Given the description of an element on the screen output the (x, y) to click on. 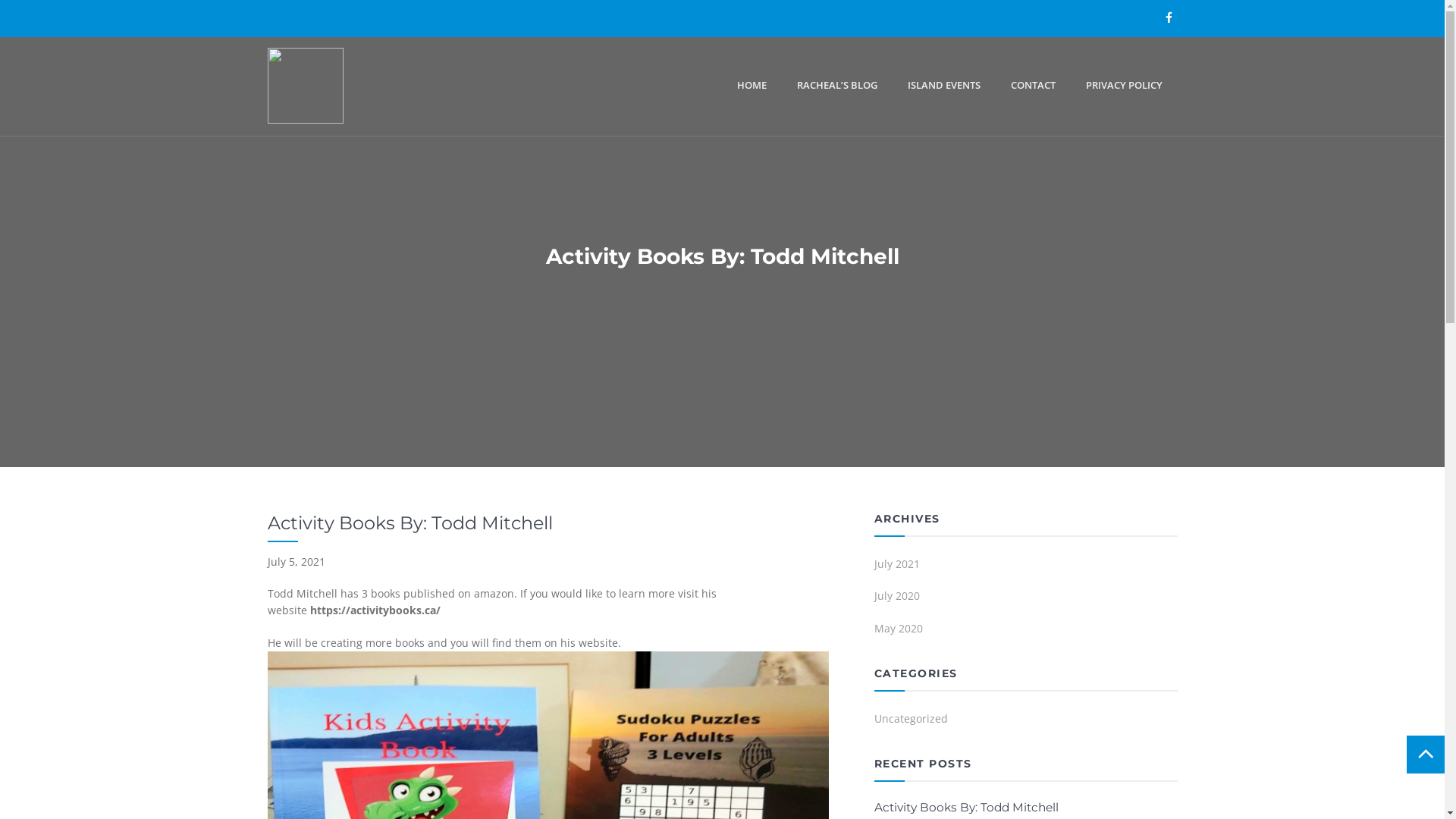
July 2020 Element type: text (1024, 599)
ISLAND EVENTS Element type: text (942, 85)
PRIVACY POLICY Element type: text (1123, 85)
May 2020 Element type: text (1024, 632)
Activity Books By: Todd Mitchell Element type: text (965, 807)
HOME Element type: text (751, 85)
CONTACT Element type: text (1032, 85)
Uncategorized Element type: text (1024, 722)
July 2021 Element type: text (1024, 567)
